Given the description of an element on the screen output the (x, y) to click on. 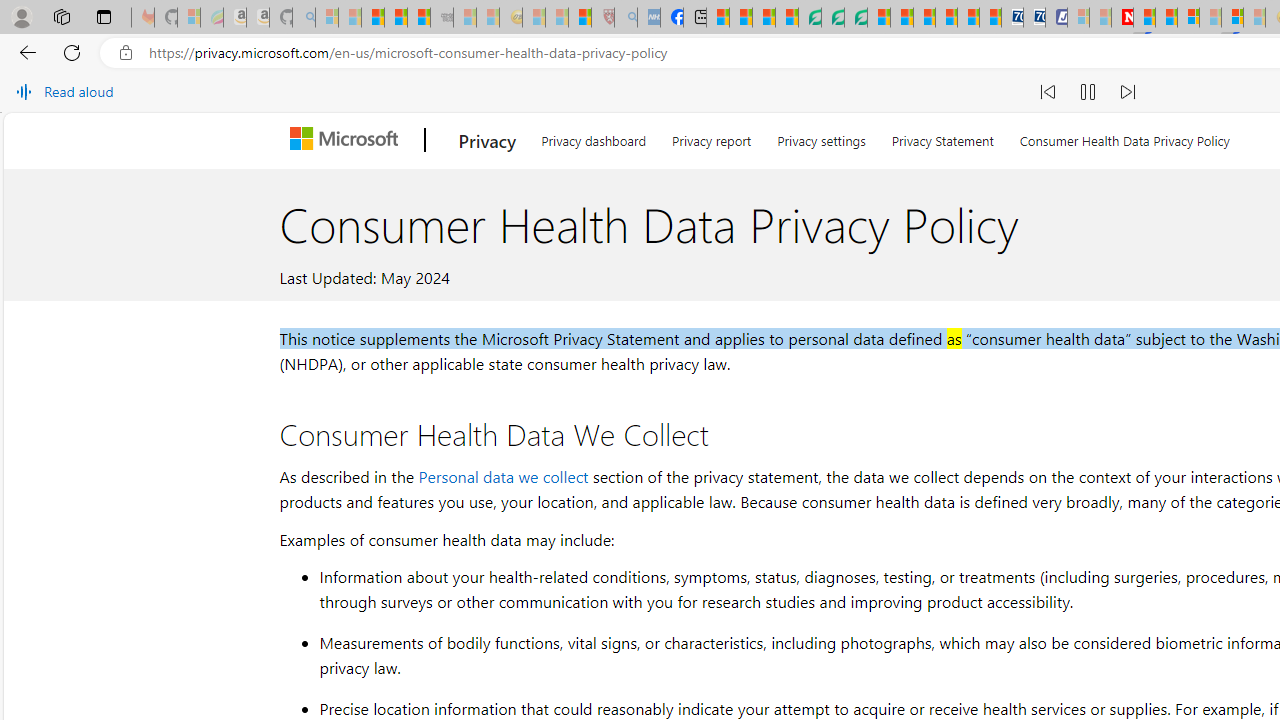
Robert H. Shmerling, MD - Harvard Health - Sleeping (602, 17)
Terms of Use Agreement (832, 17)
The Weather Channel - MSN (372, 17)
Trusted Community Engagement and Contributions | Guidelines (1144, 17)
New Report Confirms 2023 Was Record Hot | Watch (419, 17)
Read previous paragraph (1047, 92)
Local - MSN (580, 17)
Microsoft account | Privacy - Sleeping (1078, 17)
Latest Politics News & Archive | Newsweek.com (1122, 17)
Privacy dashboard (593, 137)
